Given the description of an element on the screen output the (x, y) to click on. 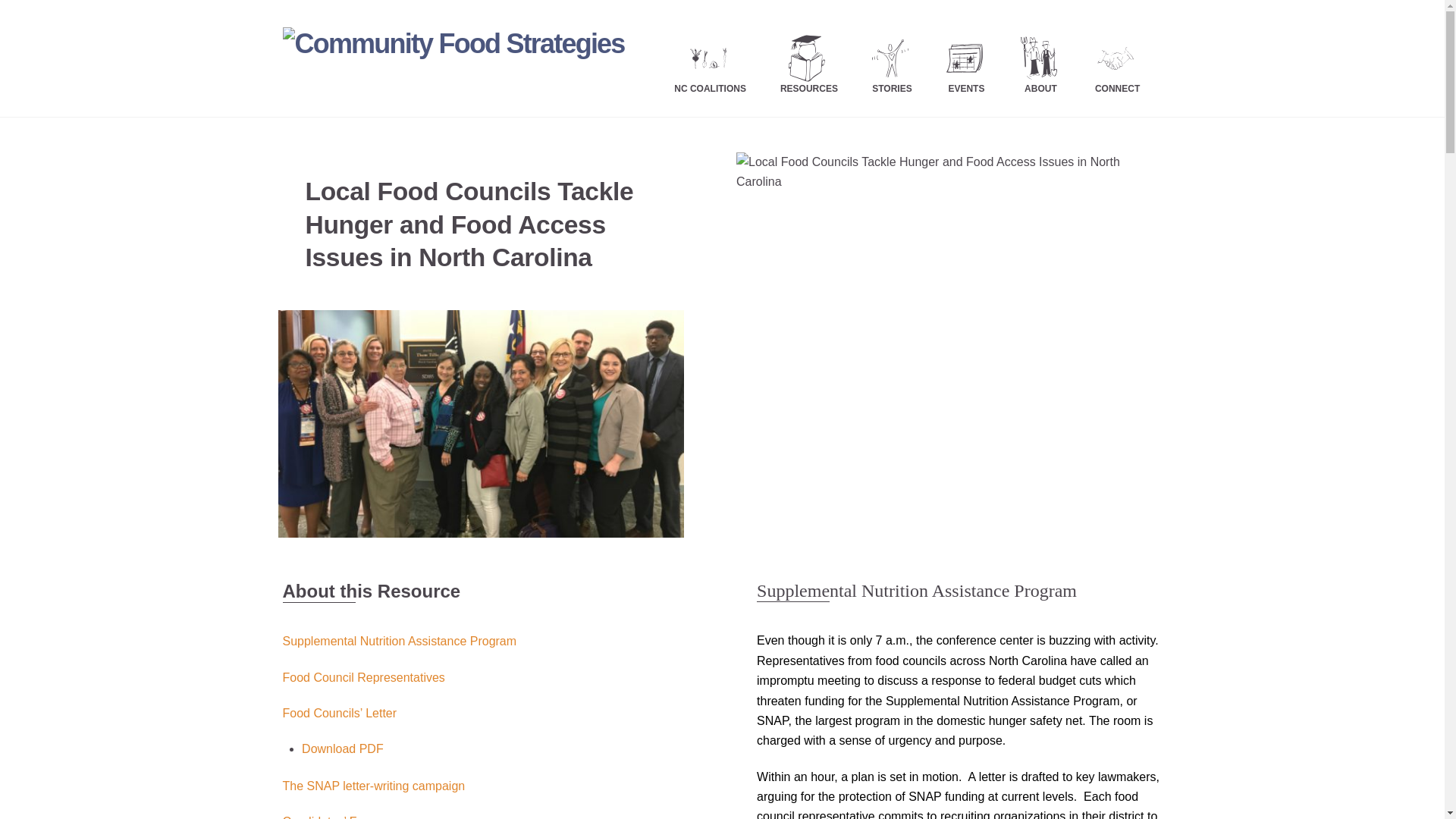
Community Food Strategies (453, 42)
The SNAP letter-writing campaign (373, 785)
Food Council Representatives (363, 676)
Download PDF (342, 748)
NC COALITIONS (709, 58)
Supplemental Nutrition Assistance Program (399, 640)
